Given the description of an element on the screen output the (x, y) to click on. 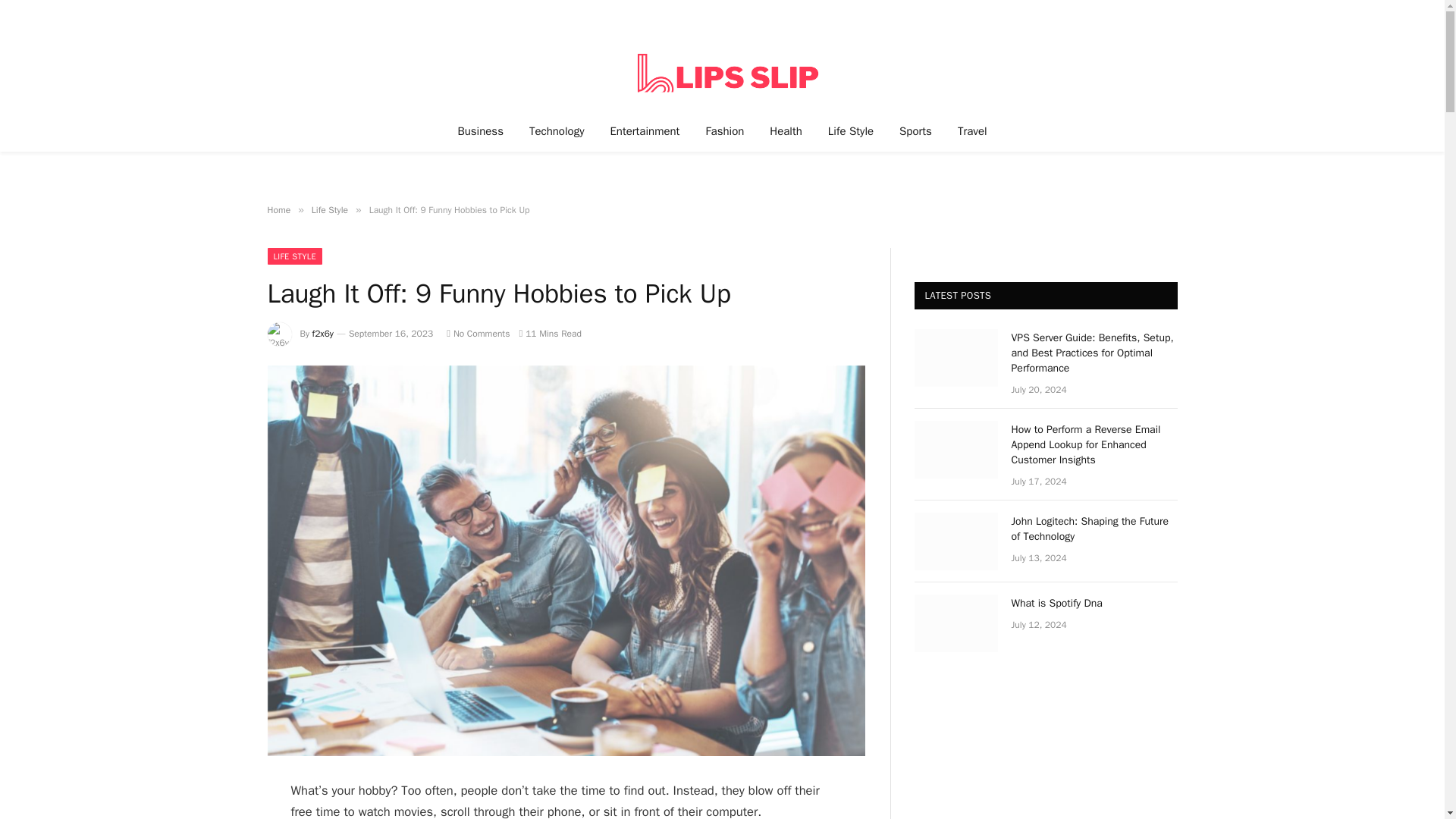
LIFE STYLE (293, 256)
No Comments (477, 333)
Life Style (329, 209)
Home (277, 209)
Technology (556, 130)
Health (786, 130)
Sports (915, 130)
Posts by f2x6y (323, 333)
Life Style (850, 130)
